Given the description of an element on the screen output the (x, y) to click on. 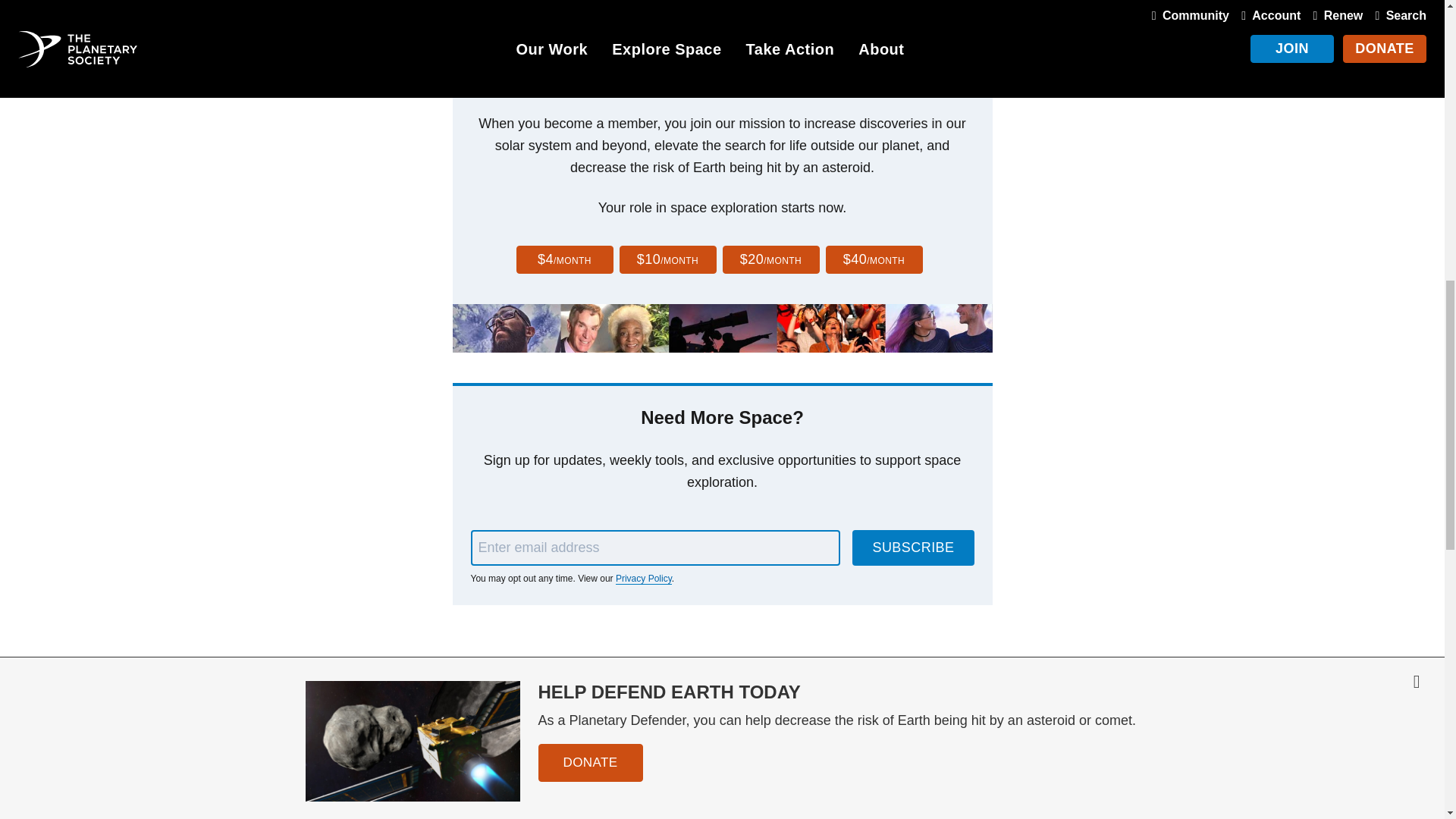
Subscribe (912, 547)
